Given the description of an element on the screen output the (x, y) to click on. 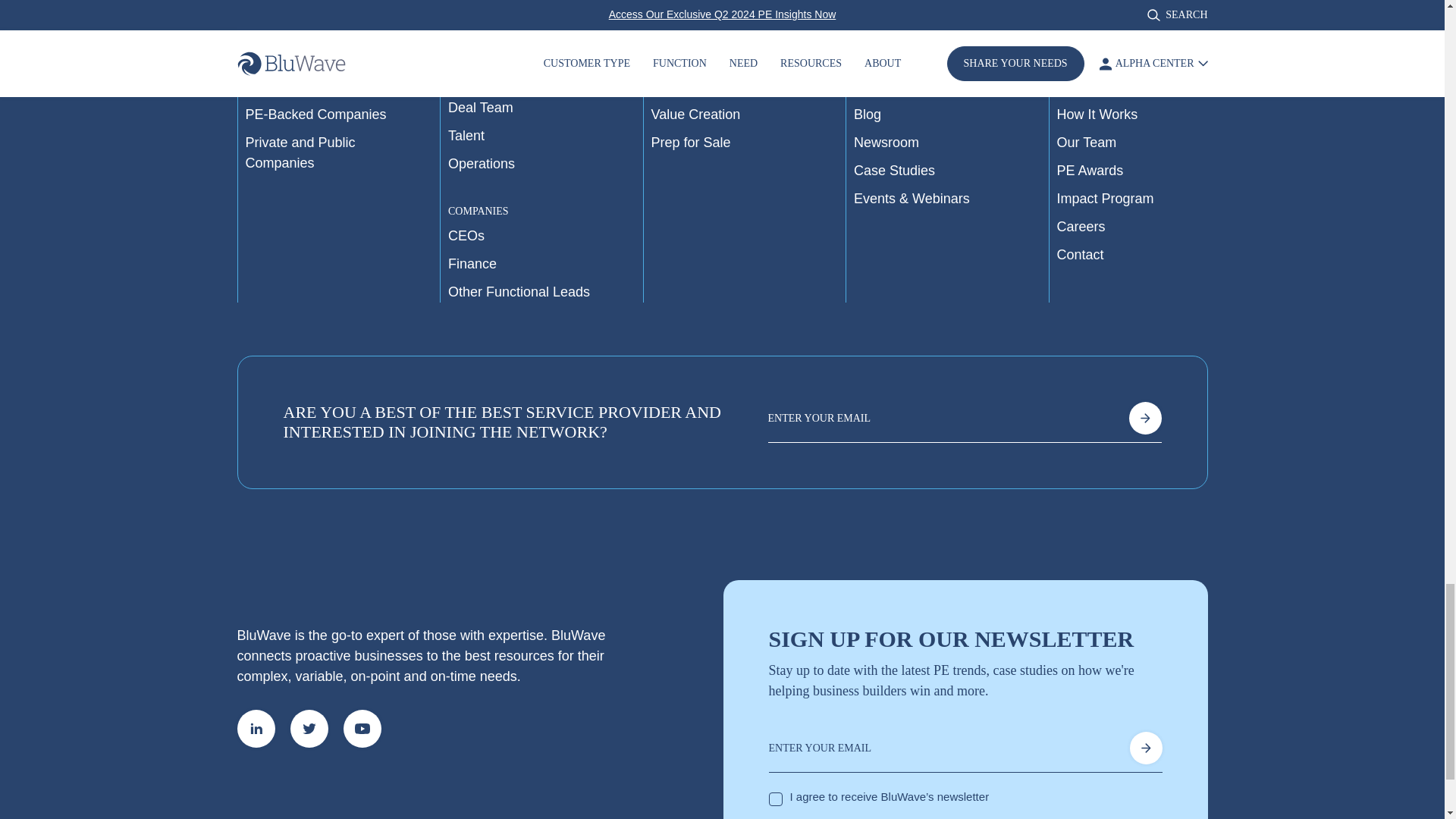
Send (1145, 748)
Send (1144, 418)
